Given the description of an element on the screen output the (x, y) to click on. 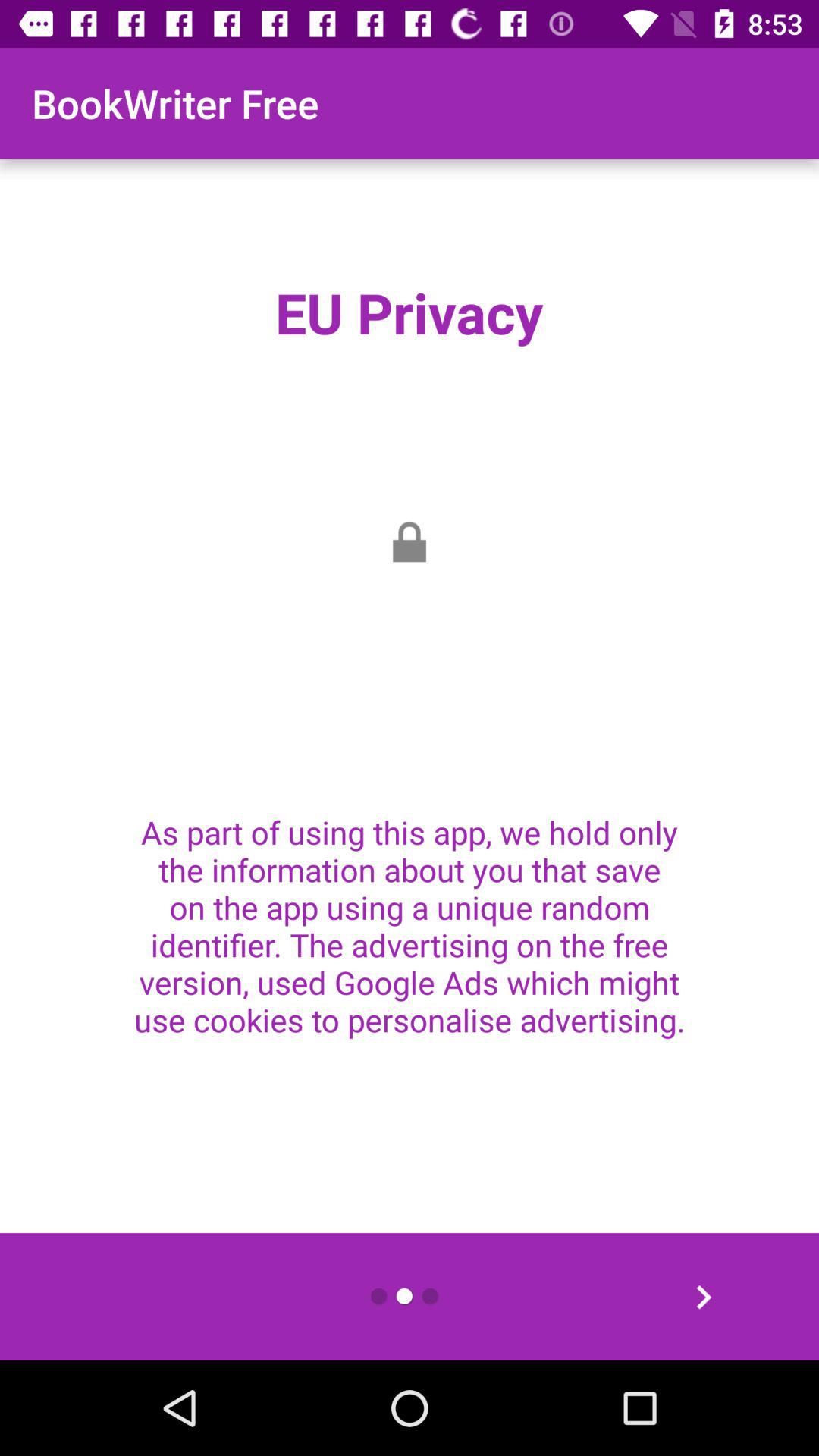
launch the item at the bottom right corner (703, 1296)
